Given the description of an element on the screen output the (x, y) to click on. 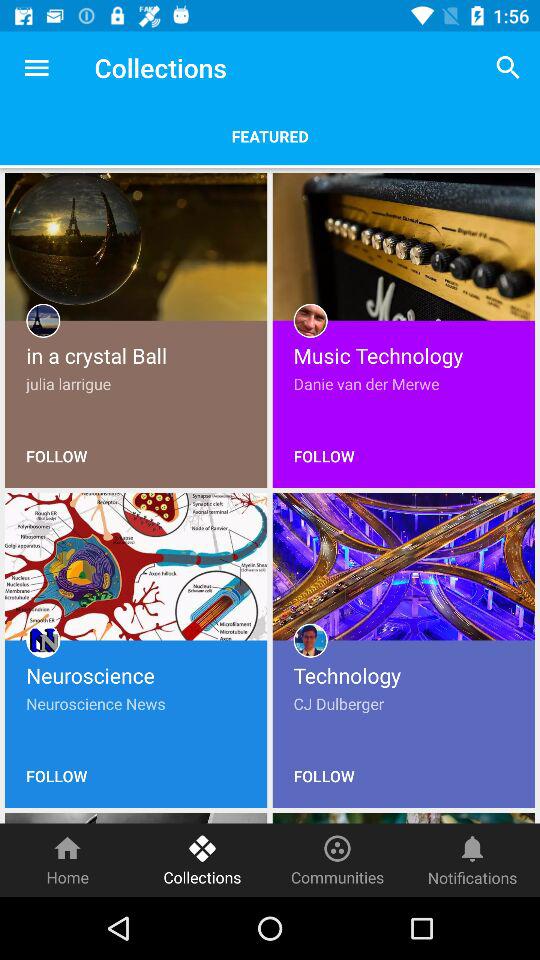
open icon next to collections (36, 67)
